Given the description of an element on the screen output the (x, y) to click on. 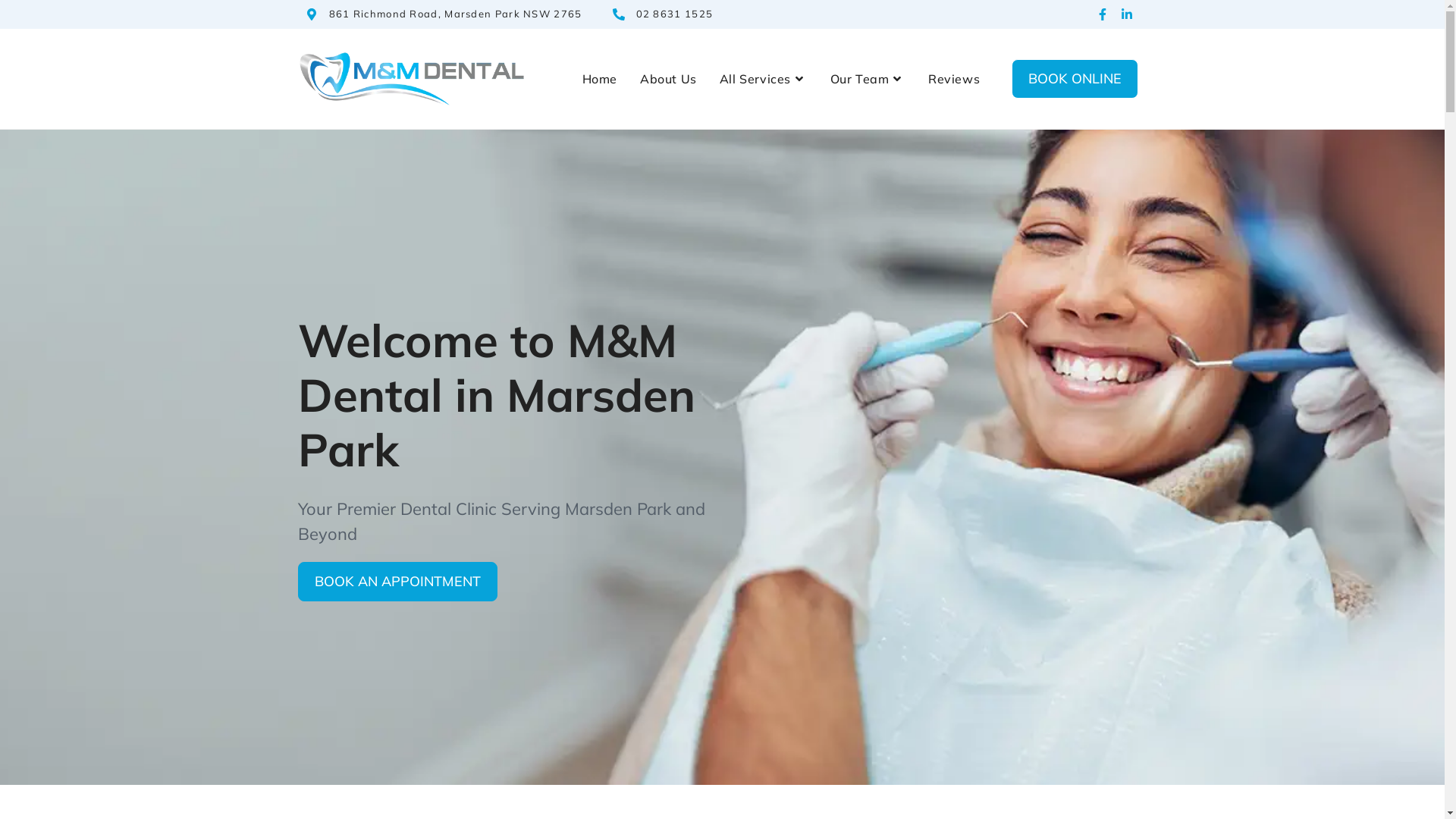
Home Element type: text (599, 78)
BOOK ONLINE Element type: text (1074, 78)
All Services Element type: text (763, 78)
Reviews Element type: text (953, 78)
02 8631 1525 Element type: text (673, 13)
Our Team Element type: text (867, 78)
About Us Element type: text (668, 78)
BOOK AN APPOINTMENT Element type: text (396, 581)
